Given the description of an element on the screen output the (x, y) to click on. 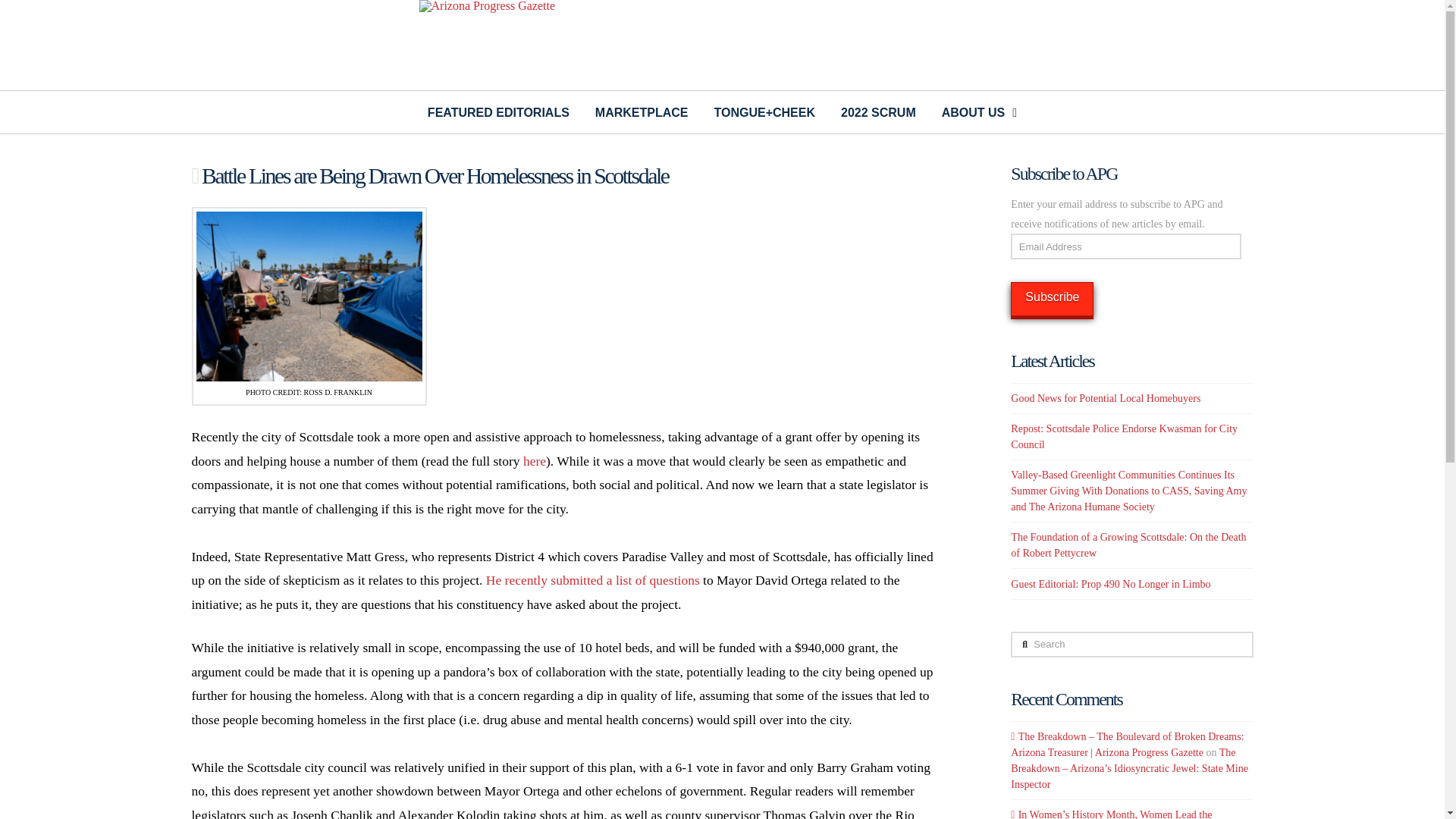
Guest Editorial: Prop 490 No Longer in Limbo (1109, 583)
Good News for Potential Local Homebuyers (1104, 398)
FEATURED EDITORIALS (498, 112)
MARKETPLACE (641, 112)
Repost: Scottsdale Police Endorse Kwasman for City Council (1123, 436)
Subscribe (1051, 298)
here (534, 460)
2022 SCRUM (878, 112)
